Given the description of an element on the screen output the (x, y) to click on. 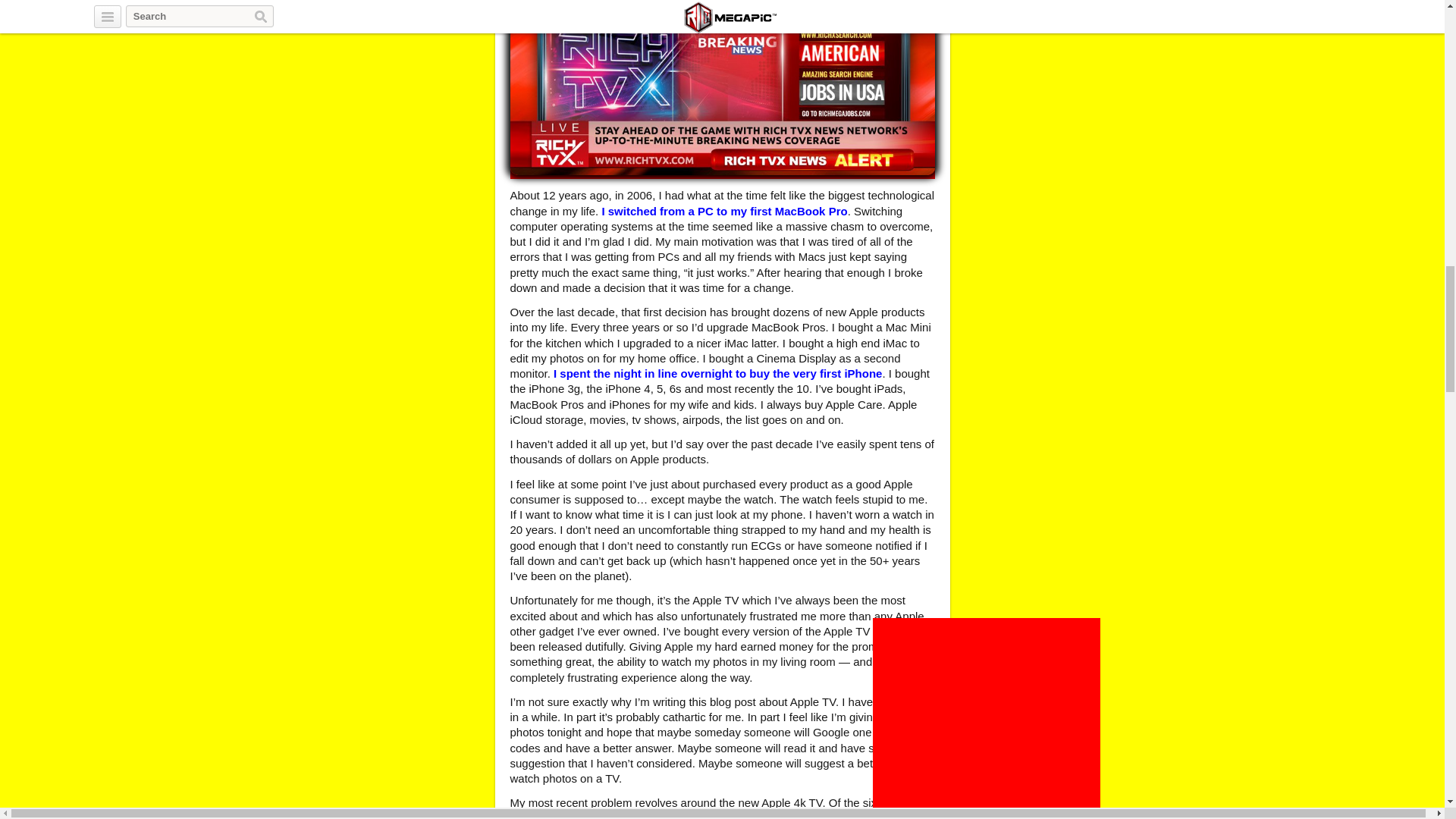
Rich TVX News (721, 87)
I switched from a PC to my first MacBook Pro (724, 210)
